Given the description of an element on the screen output the (x, y) to click on. 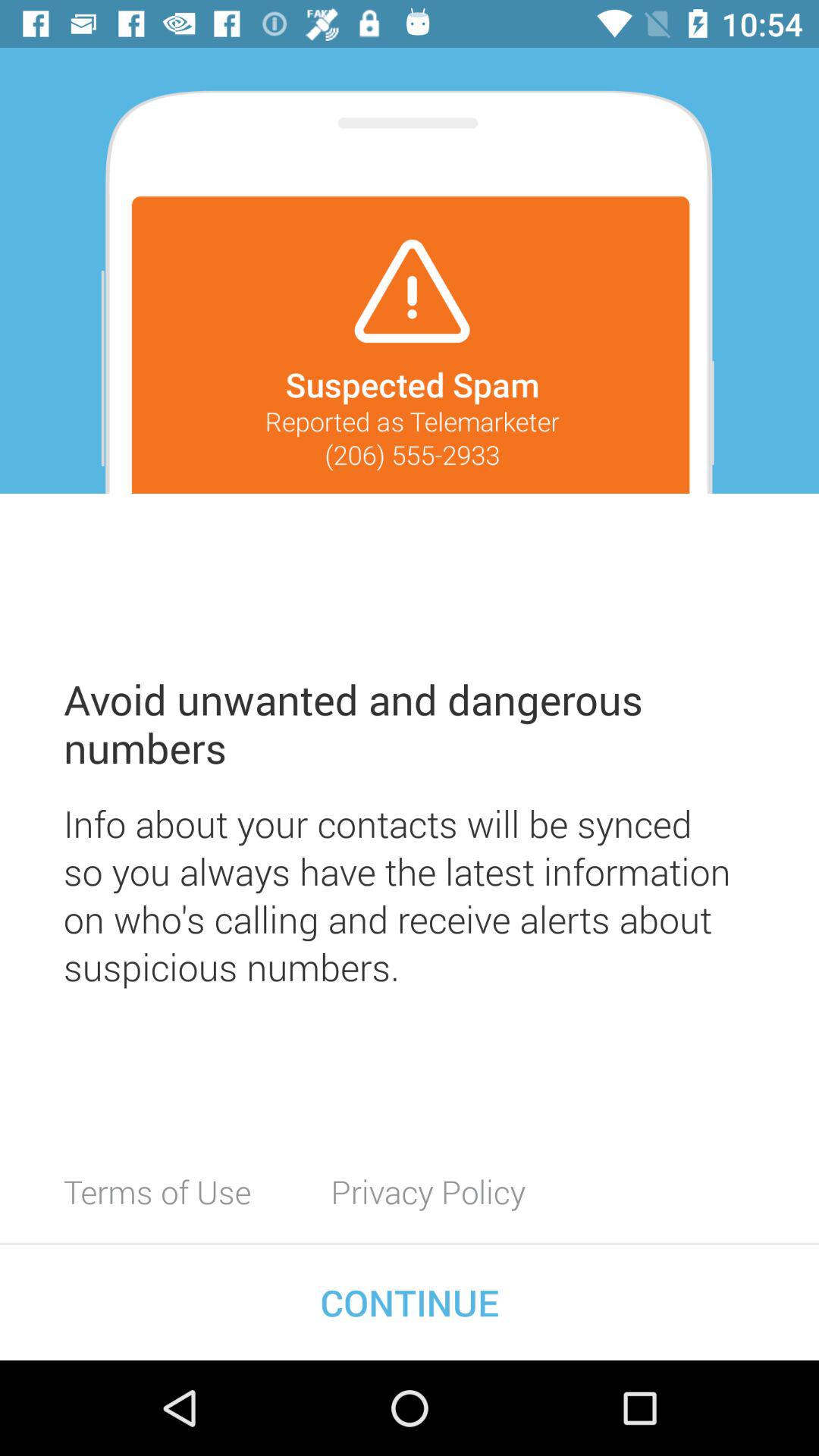
press the icon to the right of the terms of use item (428, 1191)
